Given the description of an element on the screen output the (x, y) to click on. 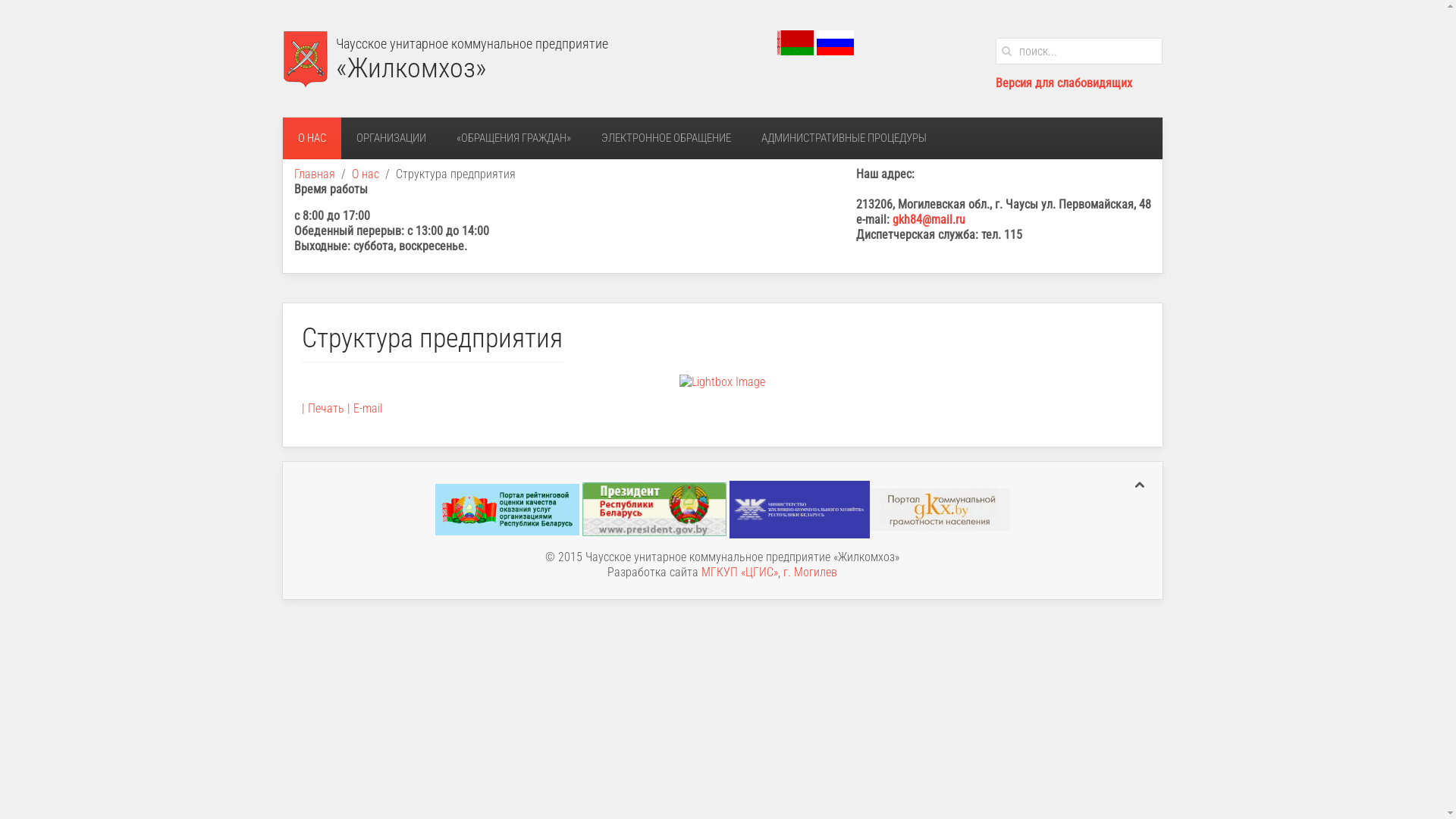
Title Position: Float Element type: hover (722, 381)
gkh84@mail.ru Element type: text (927, 219)
 E-mail Element type: text (366, 408)
